Given the description of an element on the screen output the (x, y) to click on. 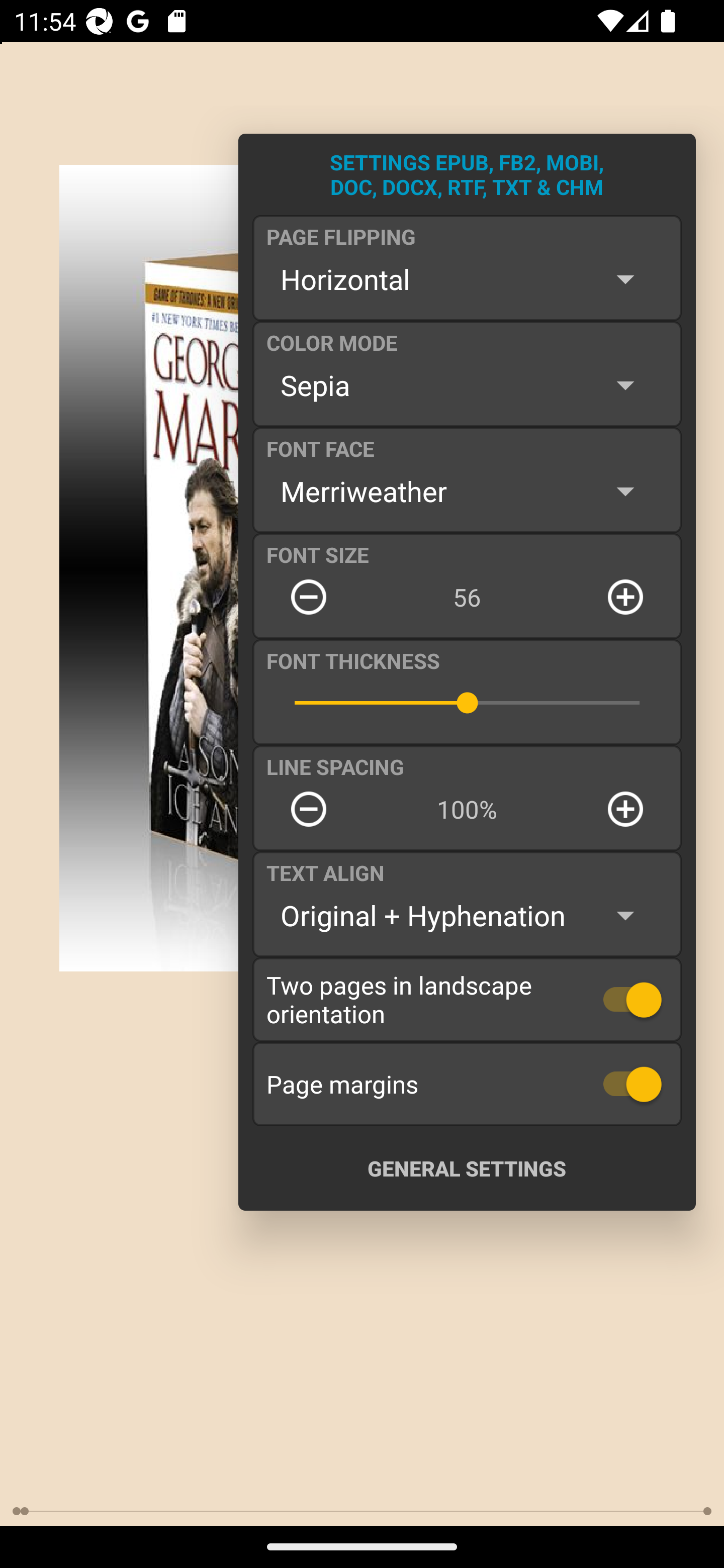
Horizontal (466, 278)
Sepia (466, 384)
Merriweather (466, 490)
Original + Hyphenation (466, 915)
Two pages in landscape orientation (467, 999)
Page margins (467, 1083)
GENERAL SETTINGS (466, 1167)
